Given the description of an element on the screen output the (x, y) to click on. 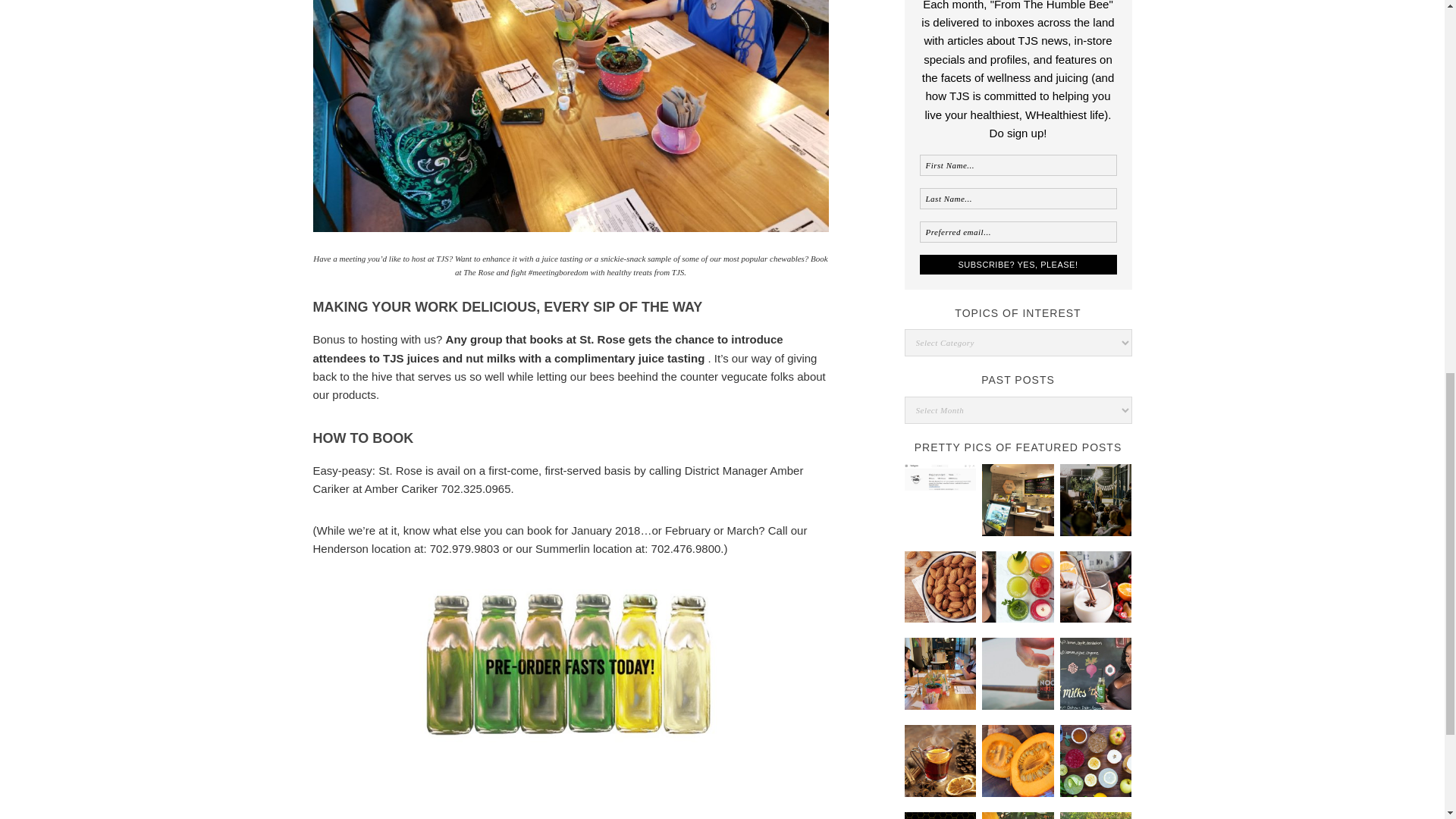
Subscribe? Yes, Please! (1017, 264)
TJS News: Getting To Know Us (939, 815)
Juice Hacks: Got Kiddos? Hack These Drinks For The Holidays. (1095, 587)
Ingredient Spotlight: Almonds (939, 587)
TJS Events: Sofar Sounded Sogood. (1095, 500)
Subscribe? Yes, Please! (1017, 264)
TJS News: Book Our Space in 2018 (939, 674)
Juice Hack: Mock That Toddy (939, 760)
TJS Events: Where We At (1095, 815)
Friends Who Juice: LeAndria Holliday (1095, 674)
Ingredient Spotlight: Pumpkin Is Not The New Black (1017, 760)
